Given the description of an element on the screen output the (x, y) to click on. 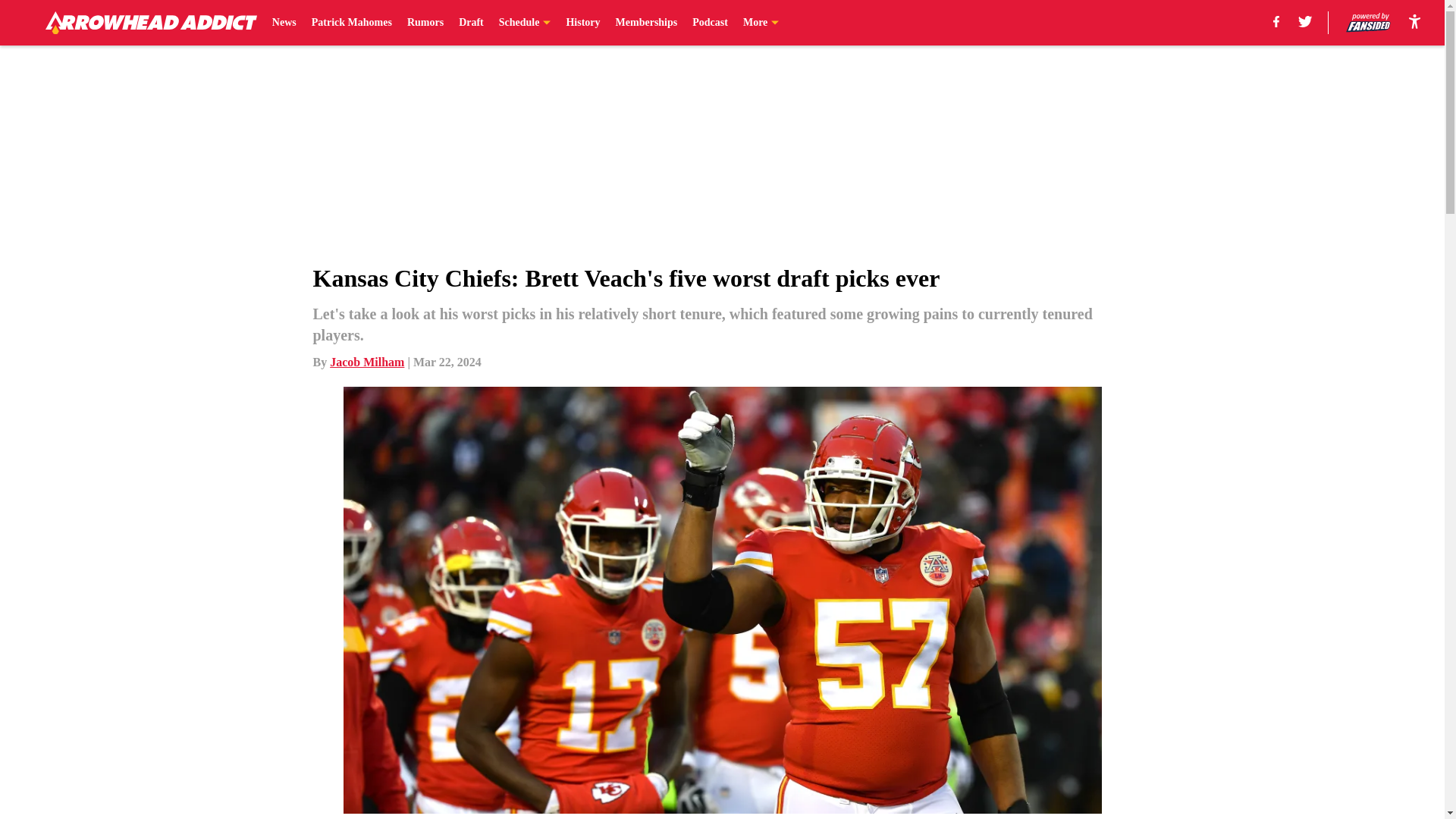
Patrick Mahomes (351, 22)
Memberships (646, 22)
History (582, 22)
Rumors (425, 22)
Jacob Milham (367, 361)
News (284, 22)
Podcast (710, 22)
Draft (470, 22)
